Given the description of an element on the screen output the (x, y) to click on. 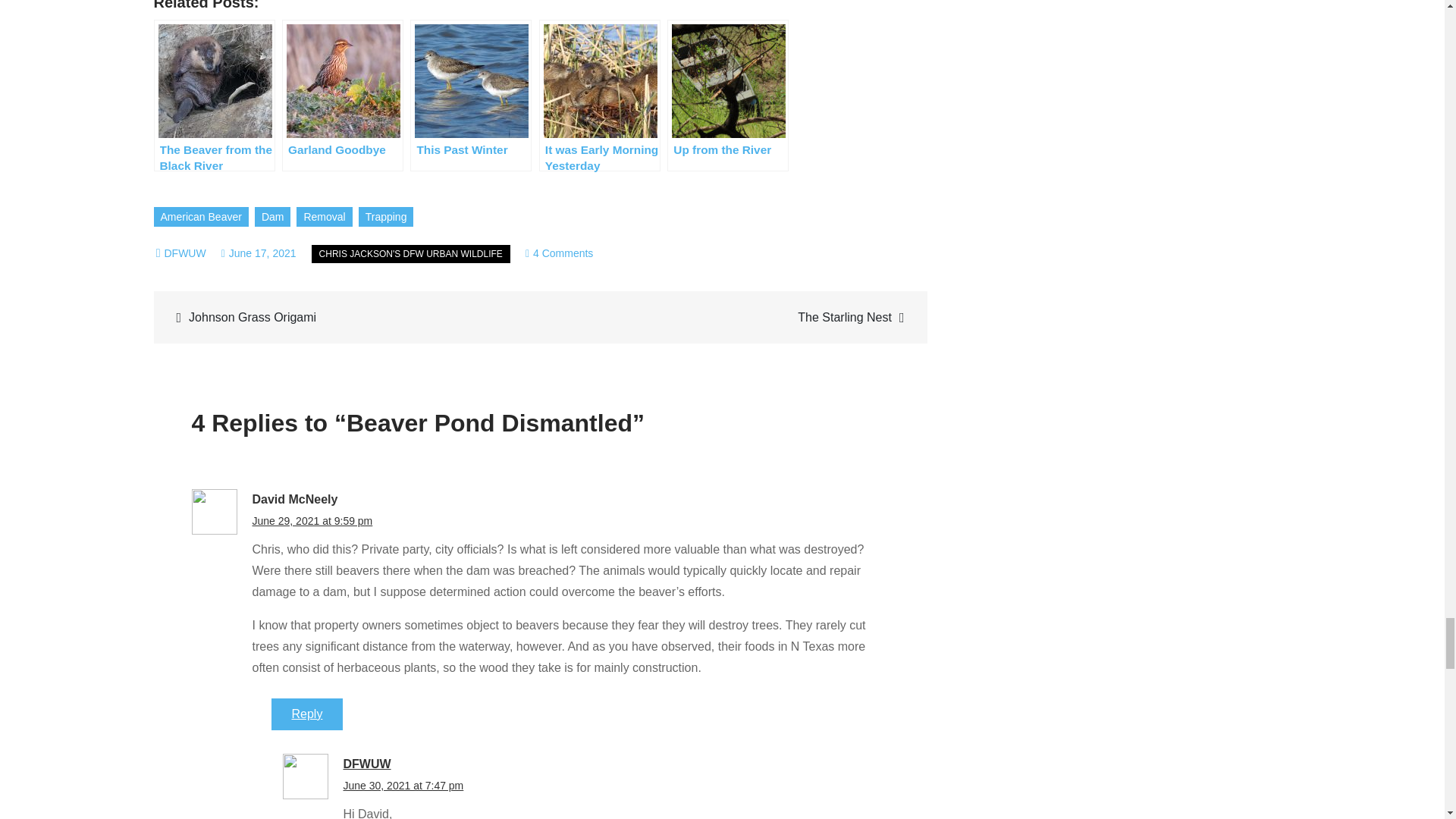
The Starling Nest (731, 317)
Reply (558, 253)
Removal (306, 714)
June 17, 2021 (324, 216)
American Beaver (259, 253)
Dam (199, 216)
DFWUW (272, 216)
DFWUW (184, 253)
June 29, 2021 at 9:59 pm (366, 763)
CHRIS JACKSON'S DFW URBAN WILDLIFE (311, 521)
Trapping (411, 253)
June 30, 2021 at 7:47 pm (385, 216)
Johnson Grass Origami (402, 785)
